Given the description of an element on the screen output the (x, y) to click on. 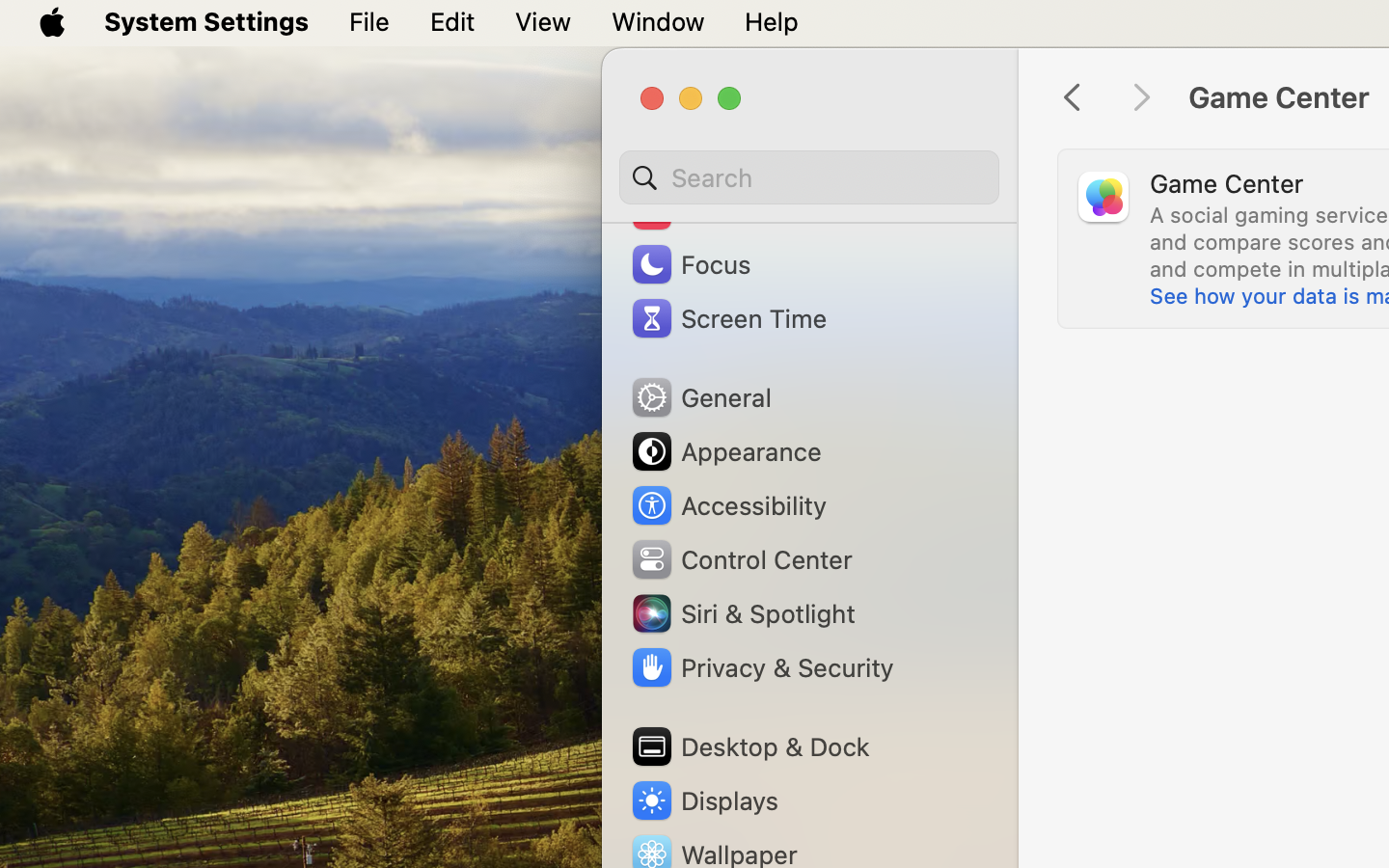
Accessibility Element type: AXStaticText (727, 505)
Focus Element type: AXStaticText (689, 264)
Siri & Spotlight Element type: AXStaticText (741, 613)
Displays Element type: AXStaticText (703, 800)
Privacy & Security Element type: AXStaticText (760, 667)
